Given the description of an element on the screen output the (x, y) to click on. 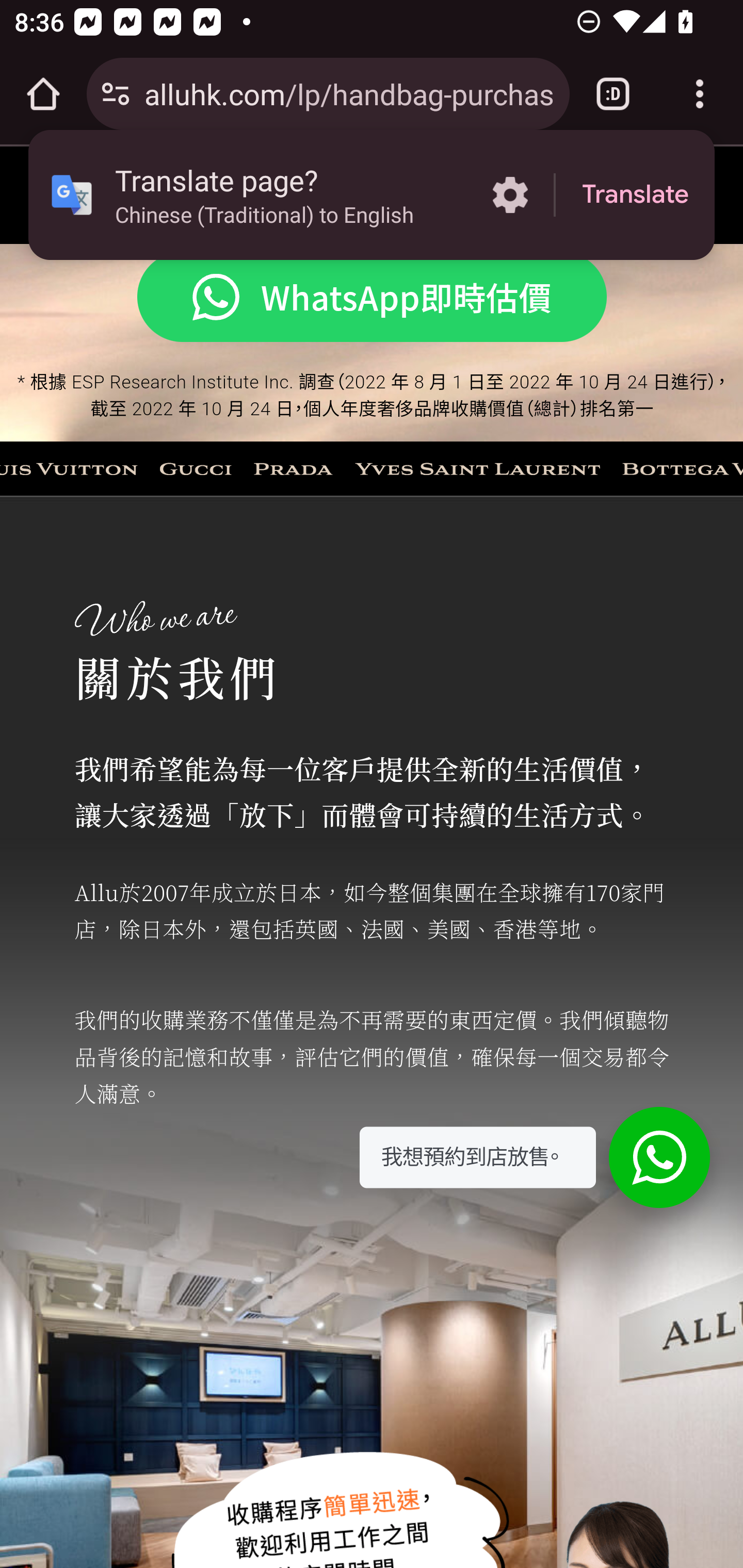
Open the home page (43, 93)
Connection is secure (115, 93)
Switch or close tabs (612, 93)
Customize and control Google Chrome (699, 93)
Translate (634, 195)
More options in the Translate page? (509, 195)
WhatsApp即時估價 (372, 298)
